Given the description of an element on the screen output the (x, y) to click on. 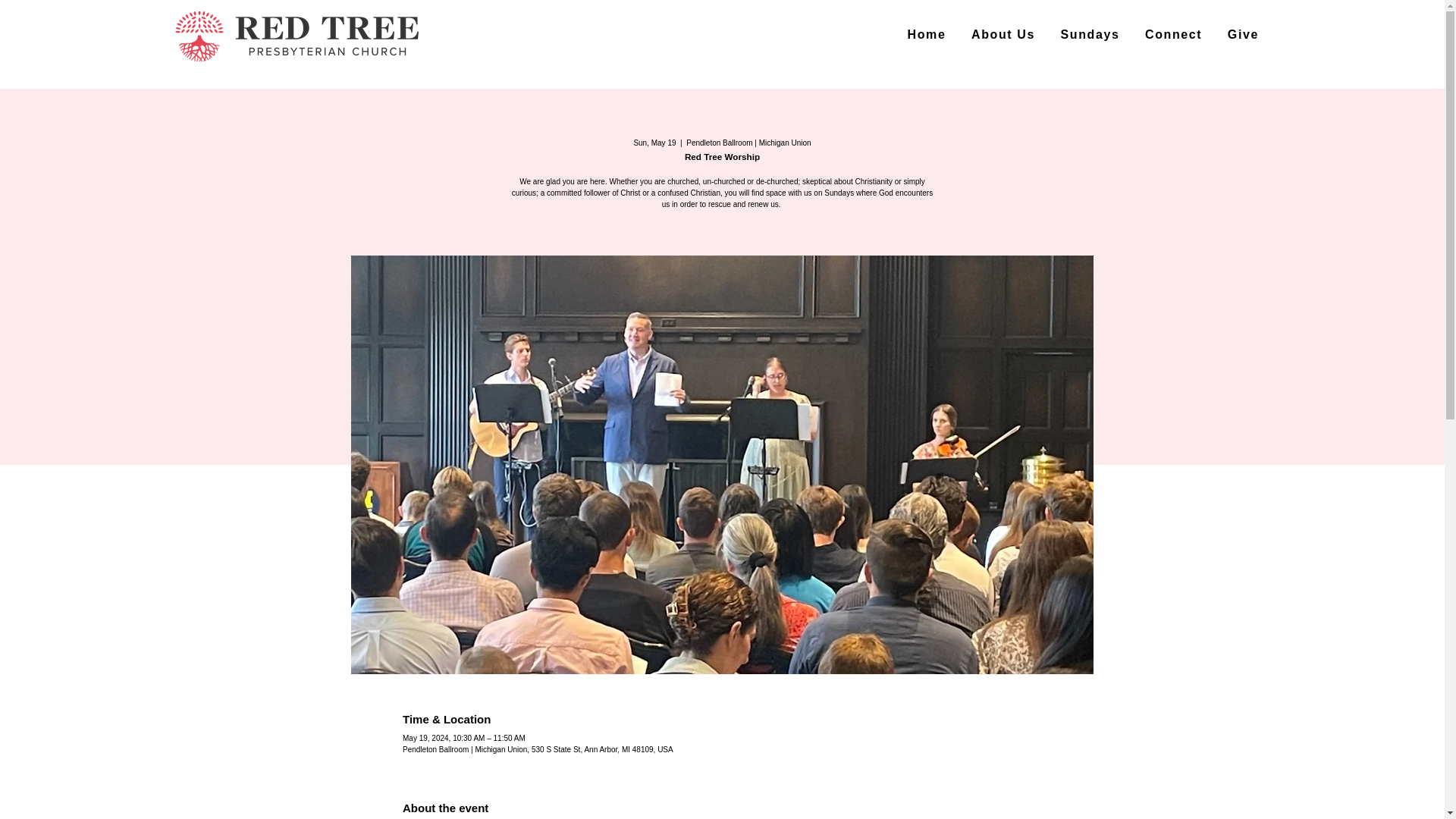
Connect (1173, 35)
Sundays (1090, 35)
Home (926, 35)
About Us (1002, 35)
Give (1242, 35)
